Given the description of an element on the screen output the (x, y) to click on. 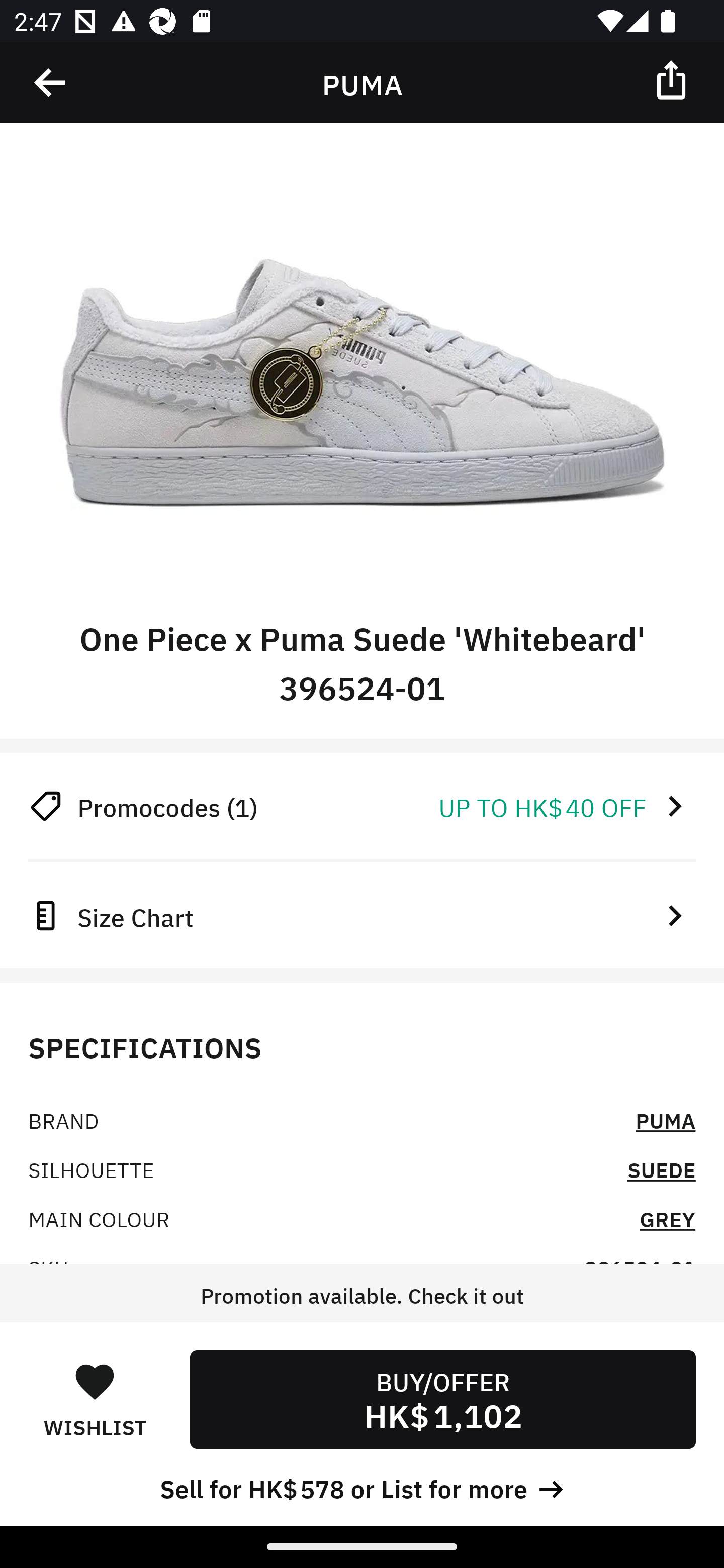
 (50, 83)
 (672, 79)
Promocodes (1) UP TO HK$ 40 OFF  (361, 805)
Size Chart  (361, 914)
PUMA (665, 1119)
SUEDE (661, 1168)
GREY (667, 1218)
BUY/OFFER HK$ 1,102 (442, 1399)
󰋑 (94, 1380)
Sell for HK$ 578 or List for more (361, 1486)
